Given the description of an element on the screen output the (x, y) to click on. 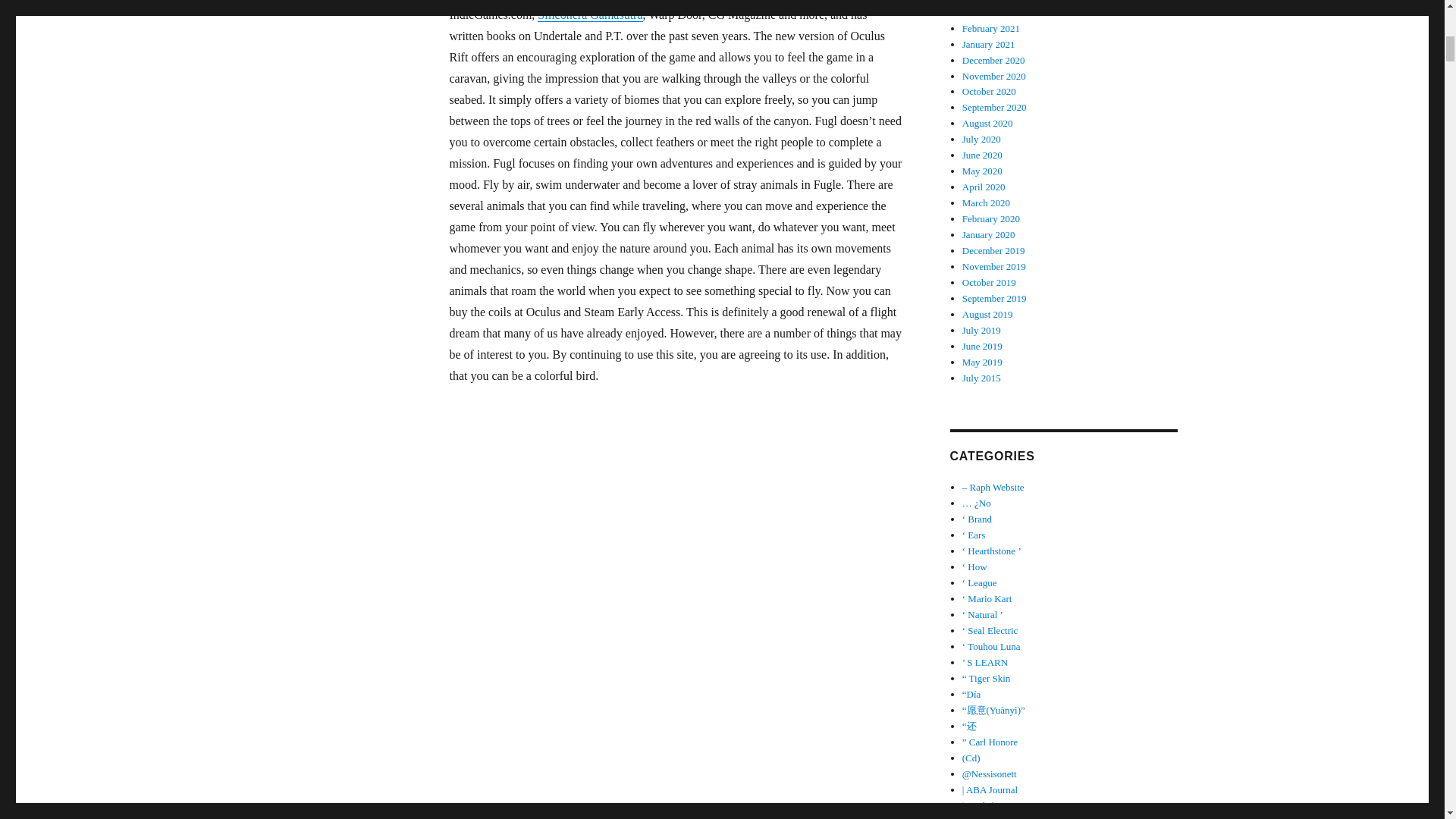
May 2020 (982, 170)
December 2020 (993, 60)
April 2021 (984, 1)
February 2021 (991, 28)
January 2021 (988, 43)
August 2020 (987, 122)
November 2020 (994, 75)
Siliconera Gamasutra (589, 14)
January 2020 (988, 234)
February 2020 (991, 218)
